Given the description of an element on the screen output the (x, y) to click on. 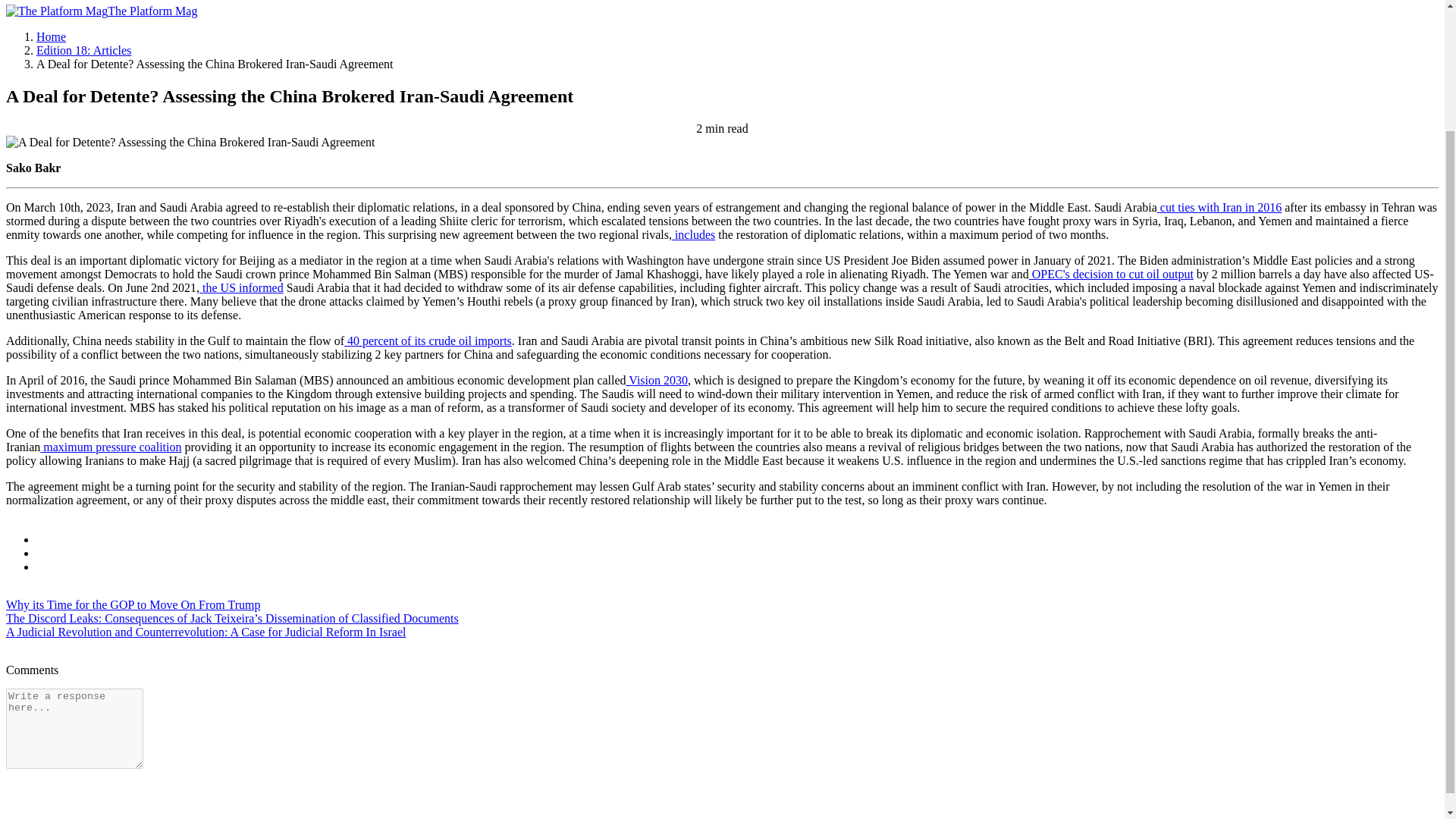
 includes (692, 234)
Why its Time for the GOP to Move On From Trump (132, 604)
 the US informed (241, 287)
 OPEC's decision to cut oil output (1111, 273)
Edition 18: Articles (83, 50)
 40 percent of its crude oil imports (427, 340)
 maximum pressure coalition (110, 446)
 cut ties with Iran in 2016 (1219, 206)
The Platform Mag (100, 10)
